Given the description of an element on the screen output the (x, y) to click on. 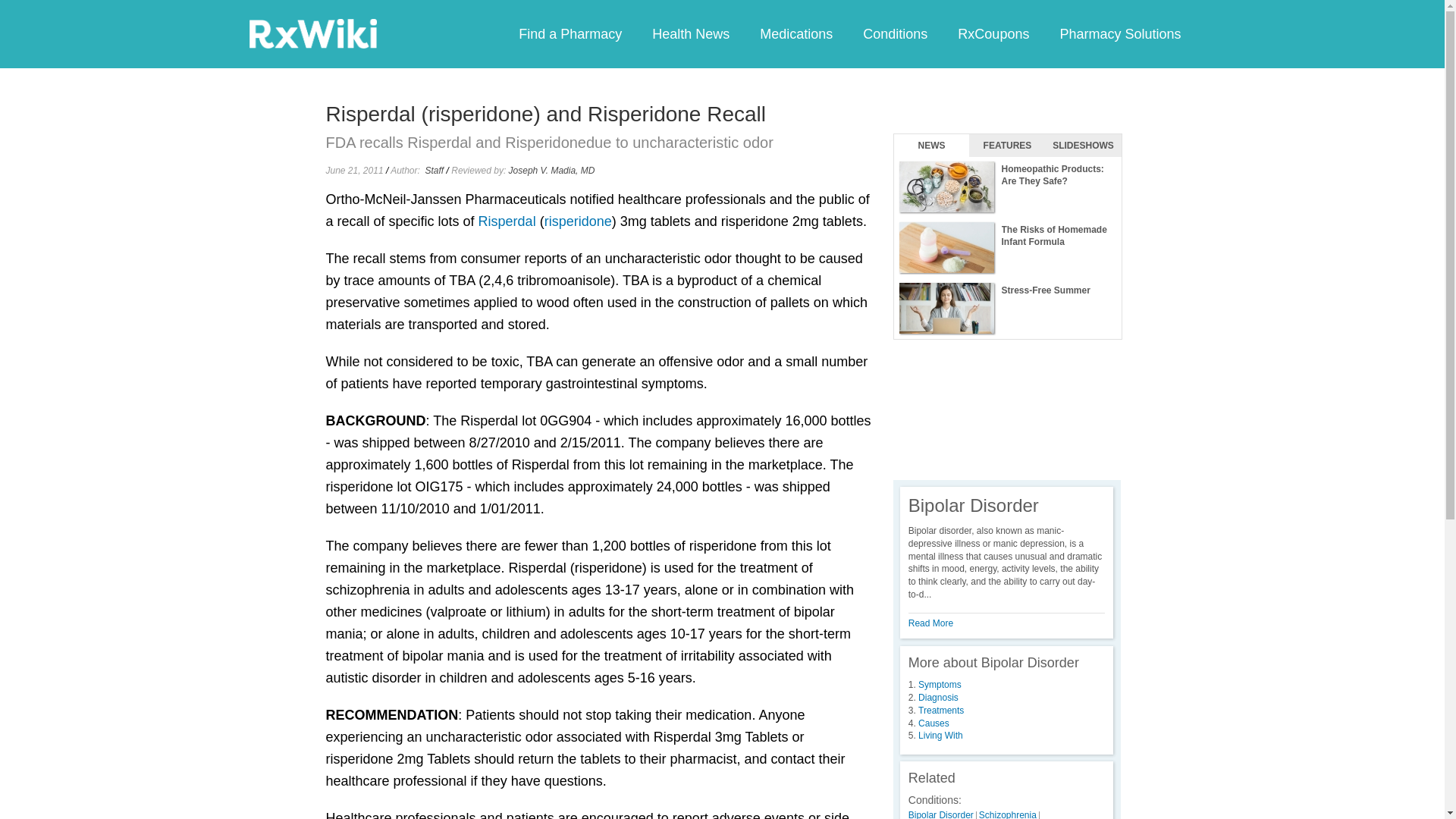
risperidone (577, 221)
Find a Pharmacy (570, 33)
SLIDESHOWS (1083, 145)
Health News (690, 33)
Stress-Free Summer (1007, 308)
Risperdal (507, 221)
Medications (795, 33)
Homeopathic Products: Are They Safe? (1007, 187)
FEATURES (1007, 145)
RxCoupons (992, 33)
